Given the description of an element on the screen output the (x, y) to click on. 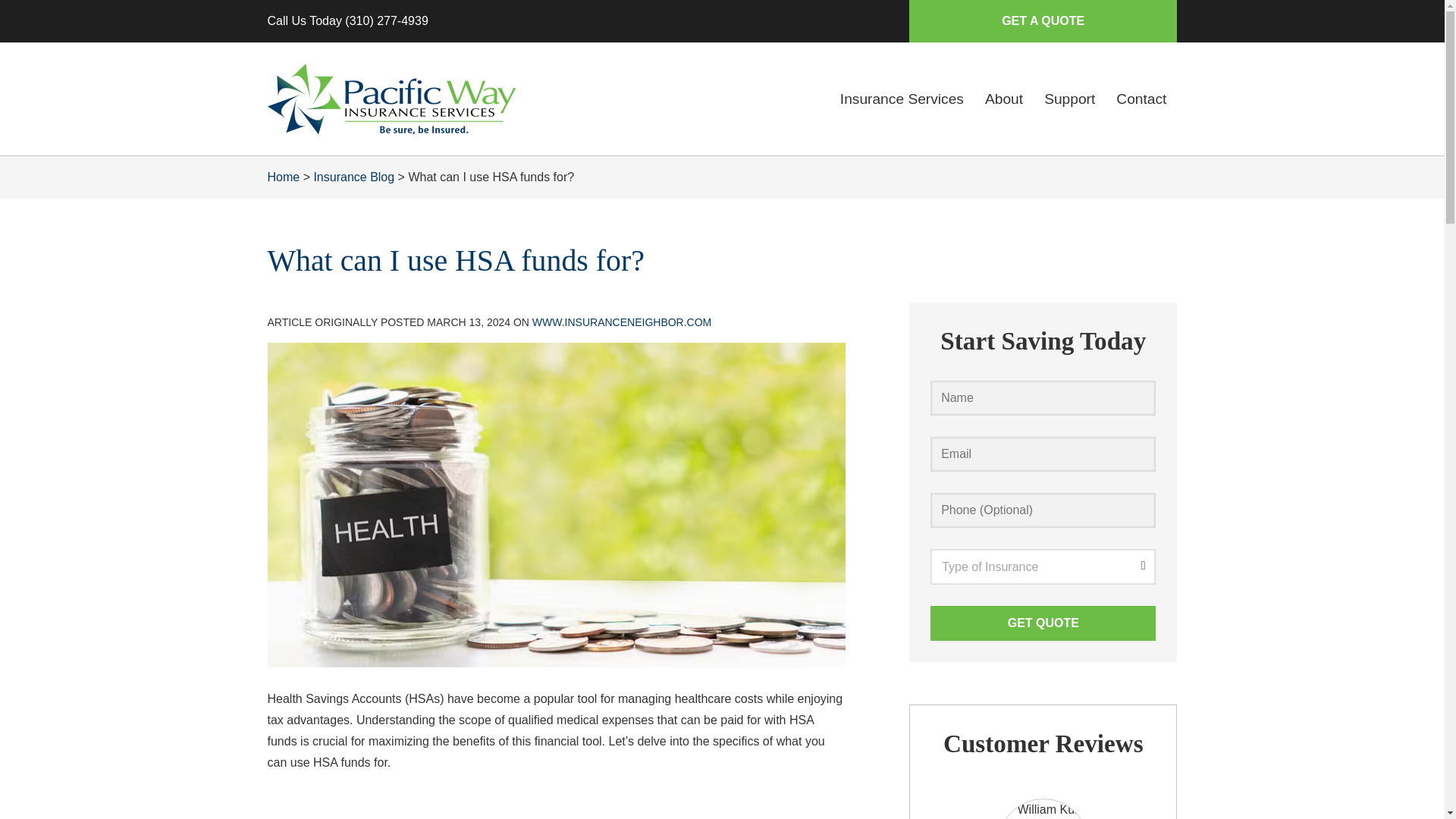
Get Quote (1043, 623)
Insurance Services (901, 98)
Pacific Way Insurance Services (390, 98)
GET A QUOTE (1042, 21)
